Given the description of an element on the screen output the (x, y) to click on. 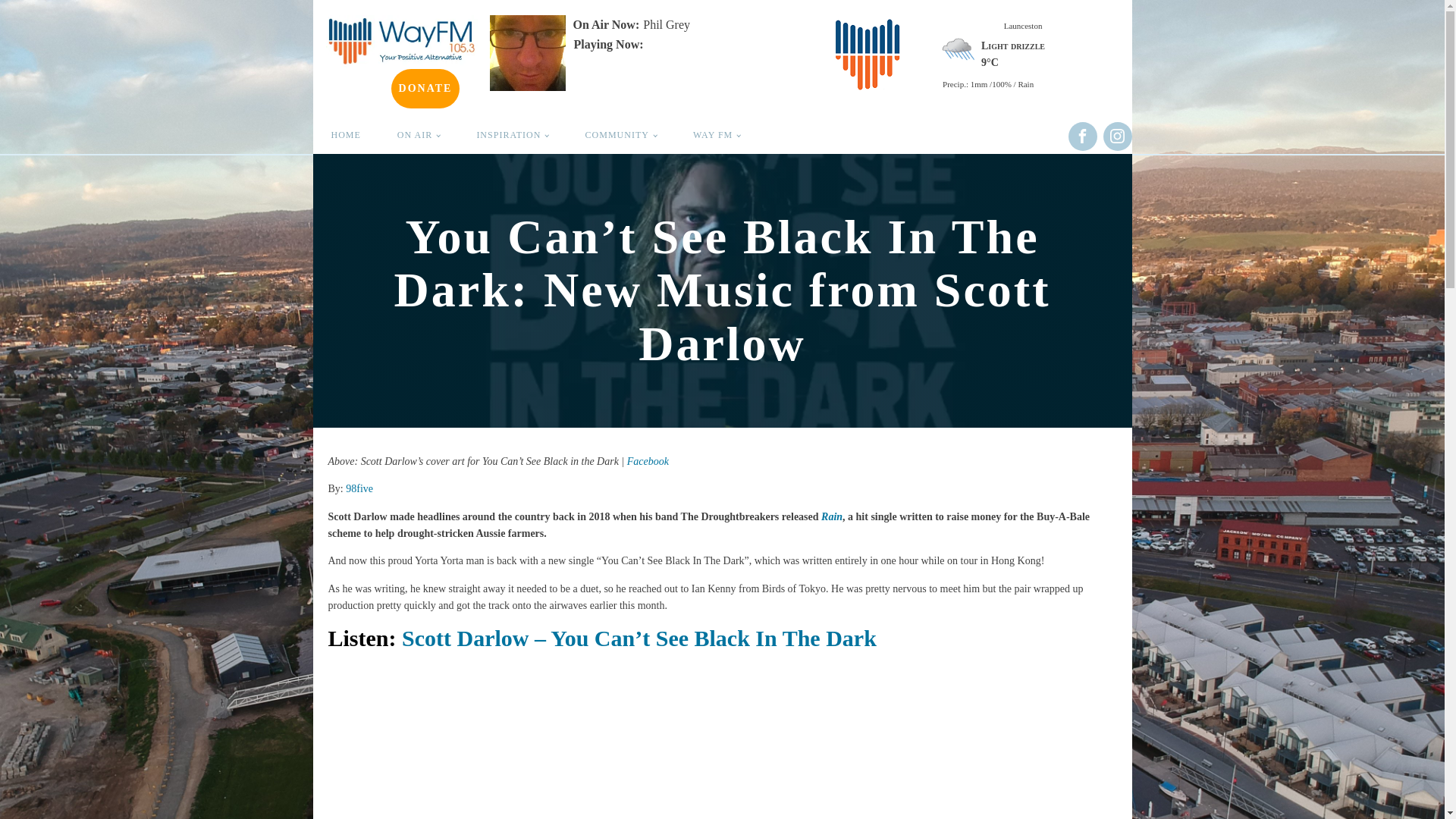
COMMUNITY (621, 134)
HOME (345, 134)
Facebook (647, 460)
INSPIRATION (512, 134)
WAY FM (716, 134)
98five (359, 488)
DONATE (425, 87)
Rain (832, 516)
ON AIR (418, 134)
